Given the description of an element on the screen output the (x, y) to click on. 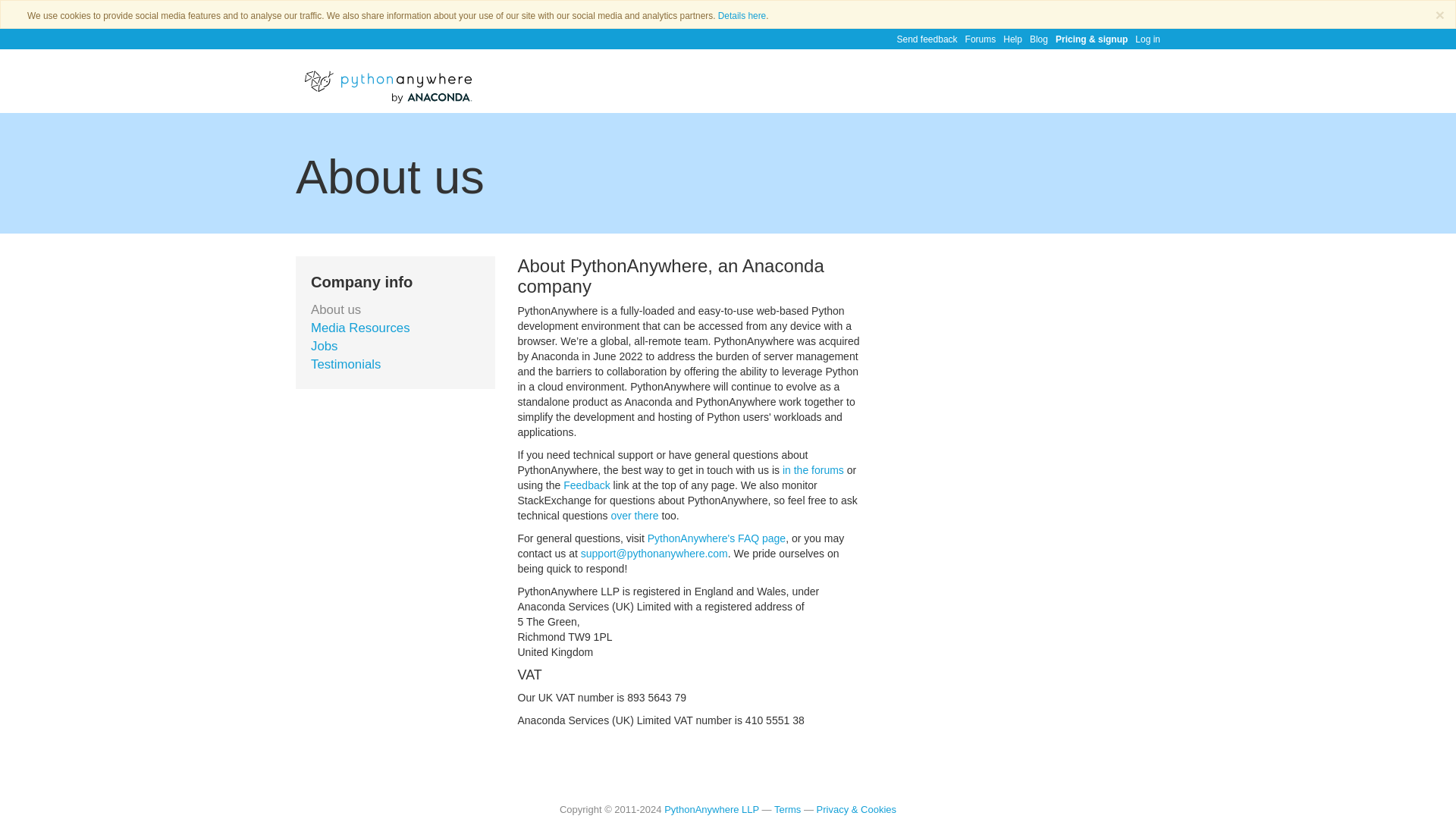
Log in (1143, 38)
Jobs (324, 345)
Details here (741, 15)
PythonAnywhere's FAQ page (716, 538)
Blog (1035, 38)
Help (1008, 38)
over there (634, 515)
Send feedback (922, 38)
PythonAnywhere LLP (710, 808)
Media Resources (360, 327)
in the forums (813, 469)
Feedback (586, 485)
Terms (787, 808)
About us (336, 309)
Testimonials (345, 364)
